Given the description of an element on the screen output the (x, y) to click on. 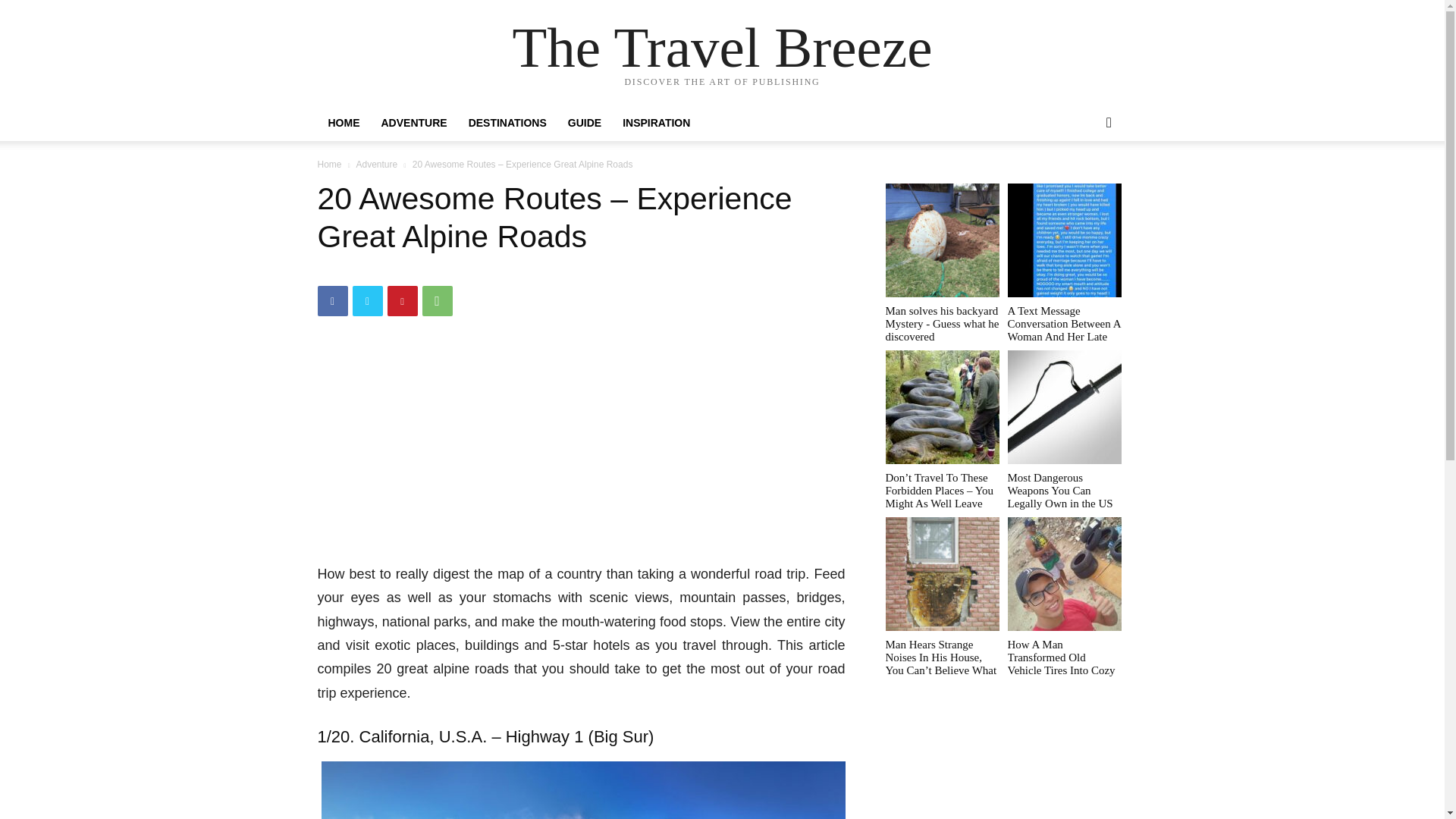
ADVENTURE (413, 122)
HOME (343, 122)
Advertisement (1003, 766)
WhatsApp (436, 300)
Most Dangerous Weapons You Can Legally Own in the US (1064, 490)
Advertisement (580, 449)
DESTINATIONS (507, 122)
Home (328, 163)
INSPIRATION (655, 122)
GUIDE (584, 122)
Search (1085, 183)
Pinterest (401, 300)
View all posts in Adventure (376, 163)
Twitter (366, 300)
